Given the description of an element on the screen output the (x, y) to click on. 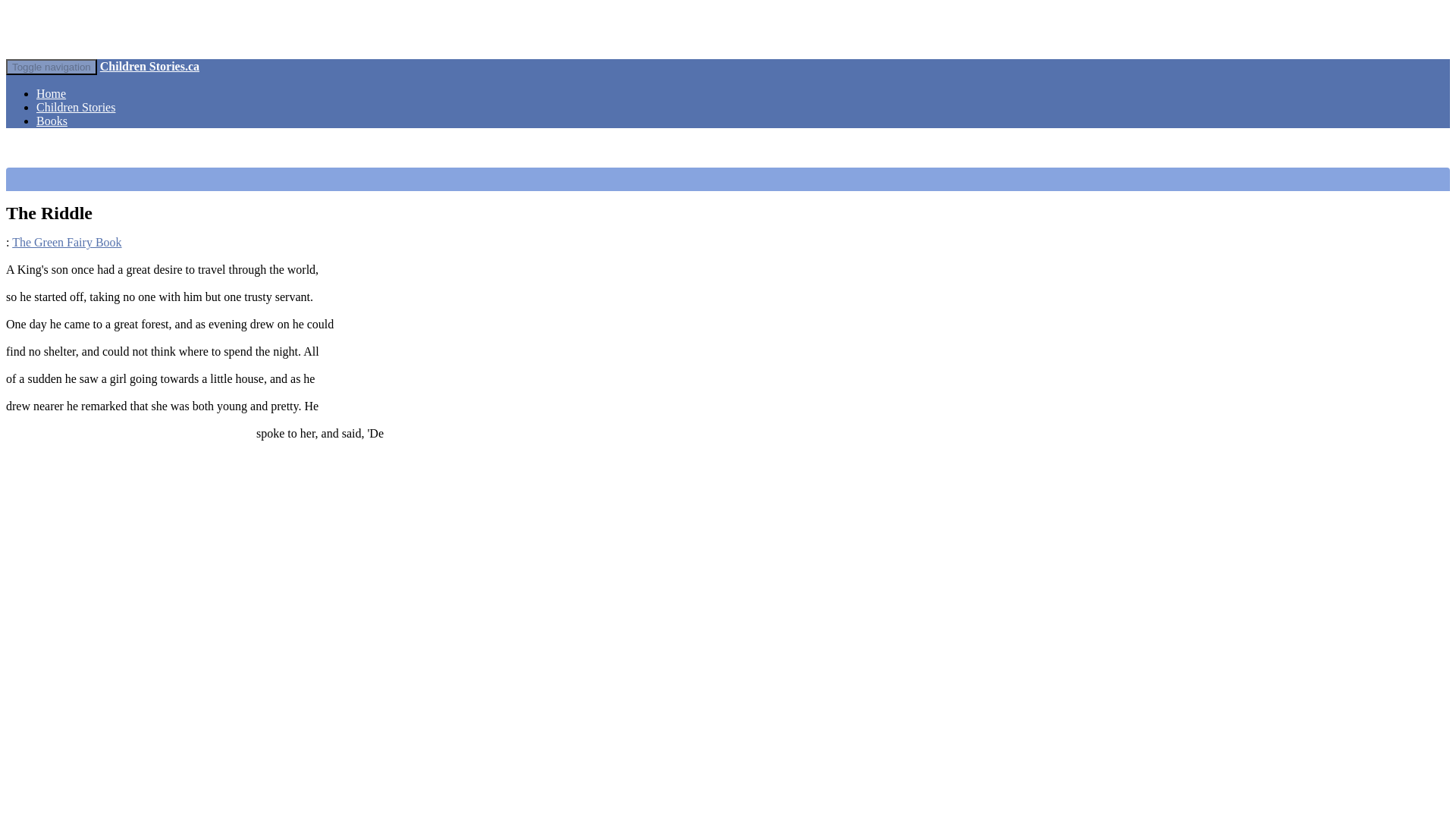
Books (51, 120)
Home (50, 92)
Toggle navigation (51, 66)
Children Stories (75, 106)
Children Stories.ca (149, 65)
The Green Fairy Book (65, 241)
